Given the description of an element on the screen output the (x, y) to click on. 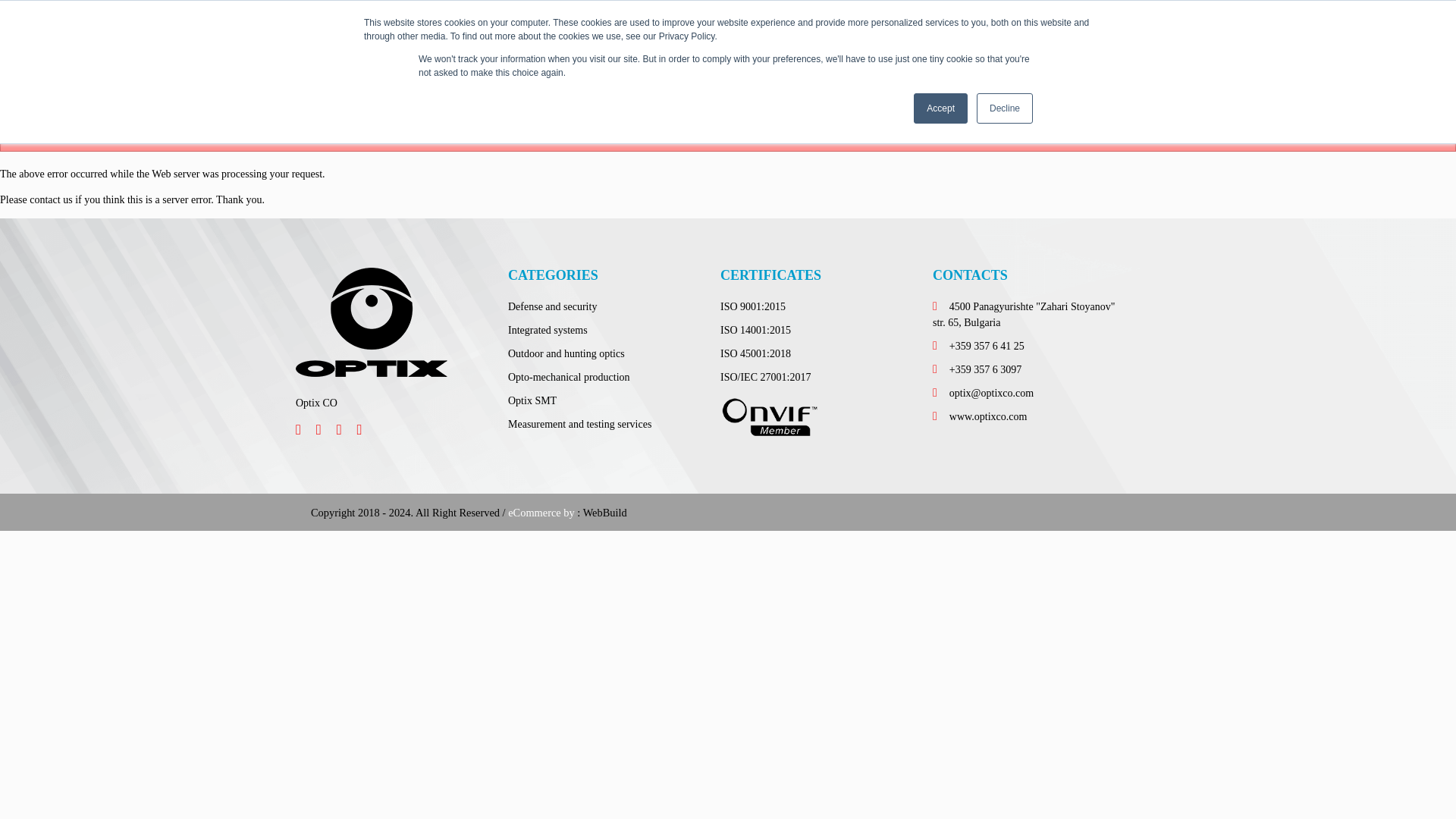
Select Language (1096, 16)
Optix (336, 62)
Products (809, 62)
Careers (970, 62)
Optix logo (370, 321)
About us (868, 62)
Contacts (1115, 62)
Home (694, 62)
News (920, 62)
Decline (1004, 108)
Accept (941, 108)
Solutions (749, 62)
Search (339, 16)
Service Support (1041, 62)
